Given the description of an element on the screen output the (x, y) to click on. 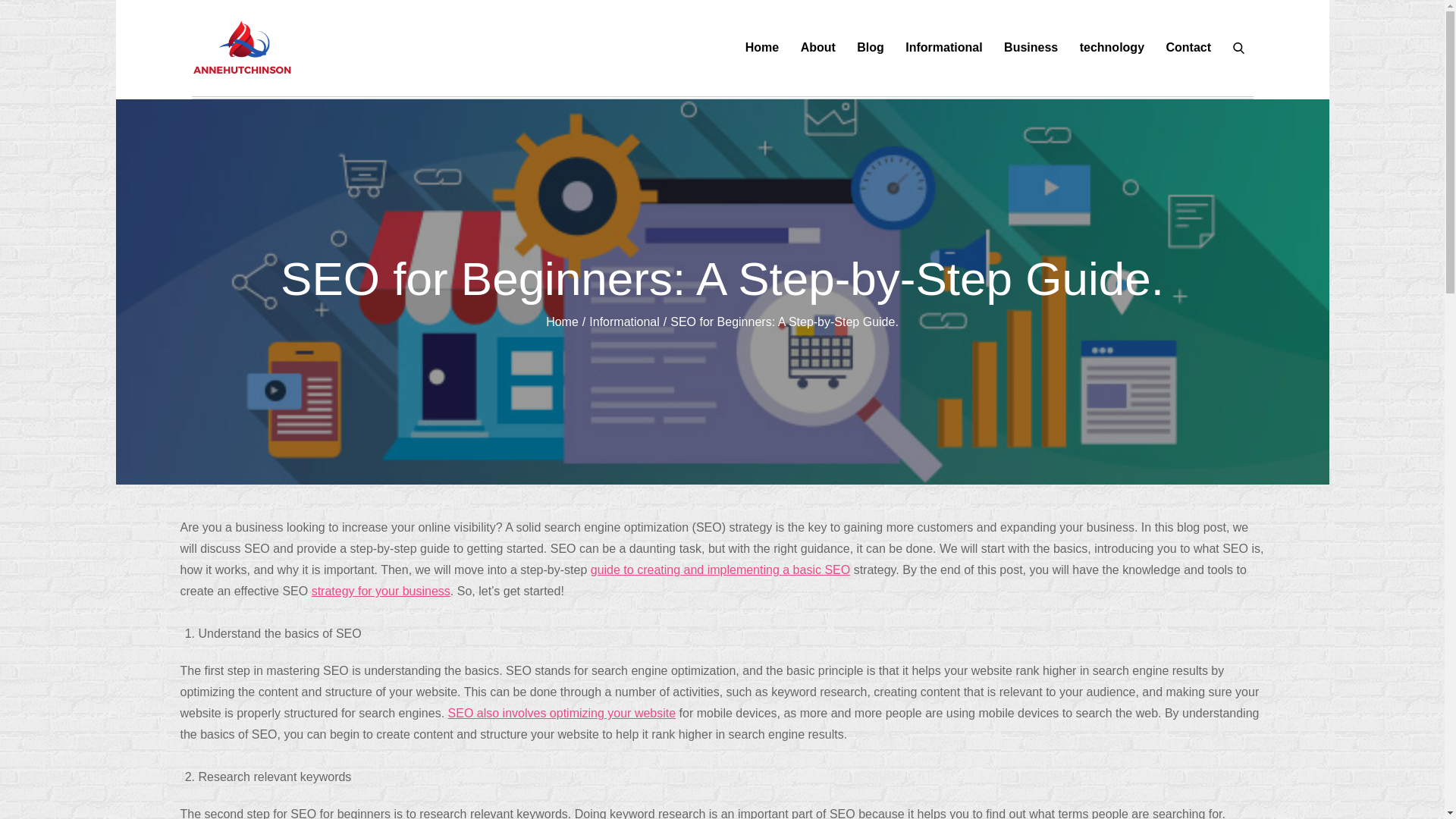
strategy for your business (380, 590)
Informational (943, 47)
Blog (870, 47)
Informational (624, 321)
Anne Hutchinson (408, 62)
Contact (1188, 47)
Search (1238, 47)
guide to creating and implementing a basic SEO (720, 569)
Business (1031, 47)
SEO also involves optimizing your website (562, 712)
Home (562, 321)
Home (761, 47)
About (817, 47)
technology (1112, 47)
